Given the description of an element on the screen output the (x, y) to click on. 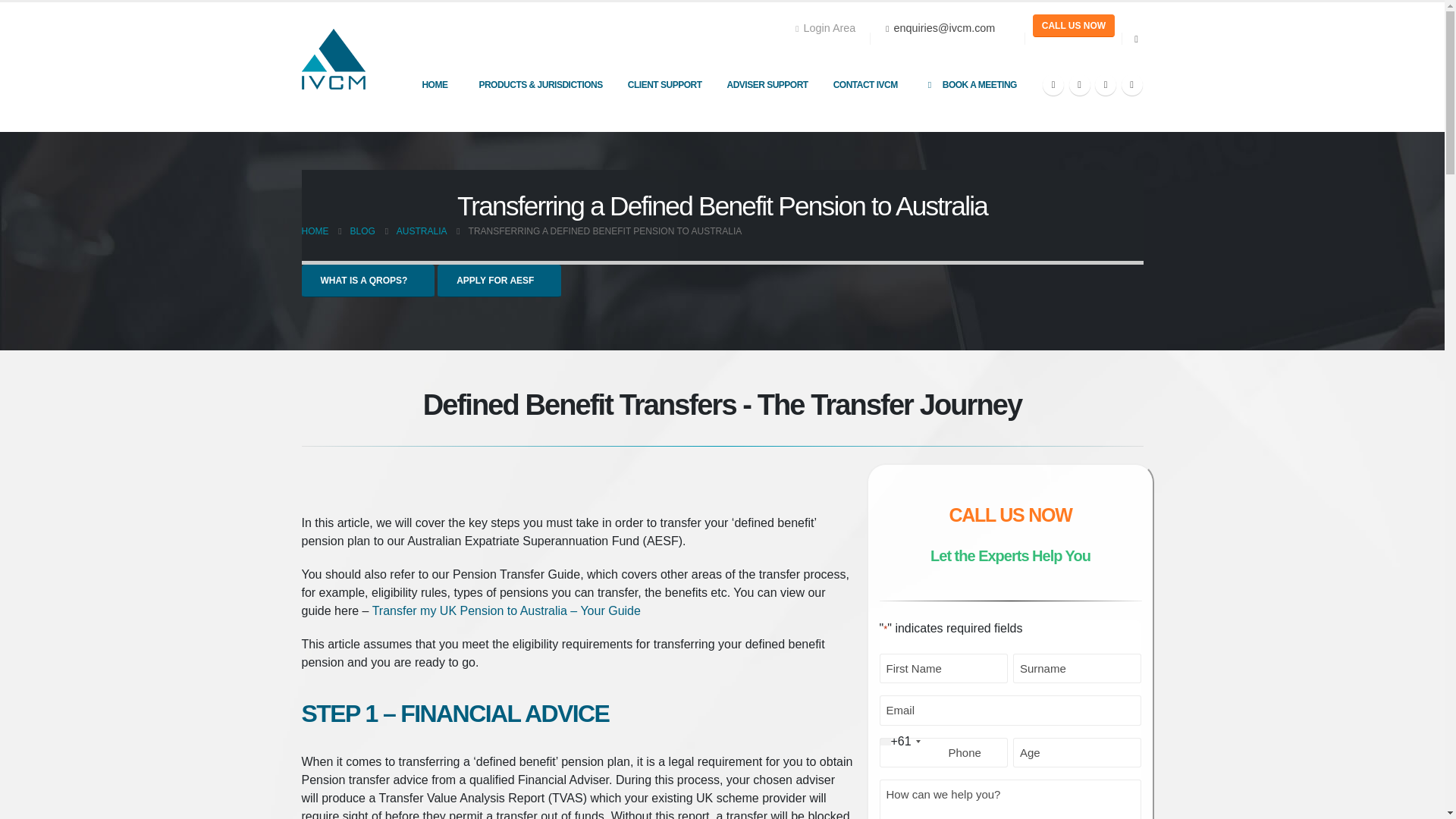
HOME (434, 84)
Go to Home Page (315, 230)
CALL US NOW (1072, 25)
CLIENT SUPPORT (664, 84)
CONTACT IVCM (865, 84)
Apply for AESF (499, 280)
ADVISER SUPPORT (766, 84)
Facebook (1053, 84)
Youtube (1105, 84)
CALL US NOW (1072, 25)
IVCM - International Retirement Solution Specialists (333, 58)
BOOK A MEETING (970, 84)
Twitter (1079, 84)
Login Area (828, 27)
LinkedIn (1131, 84)
